Given the description of an element on the screen output the (x, y) to click on. 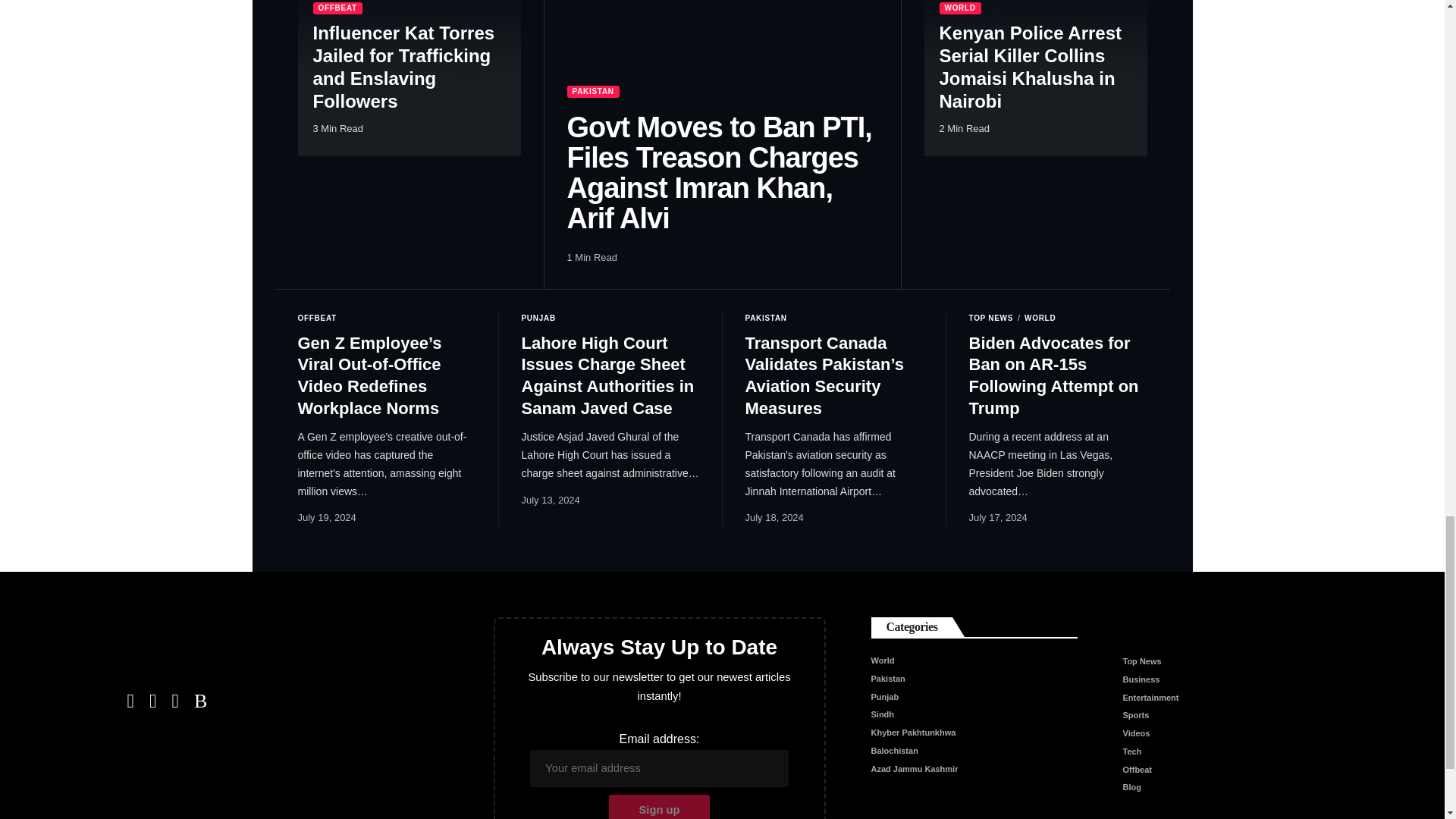
Sign up (659, 806)
